Given the description of an element on the screen output the (x, y) to click on. 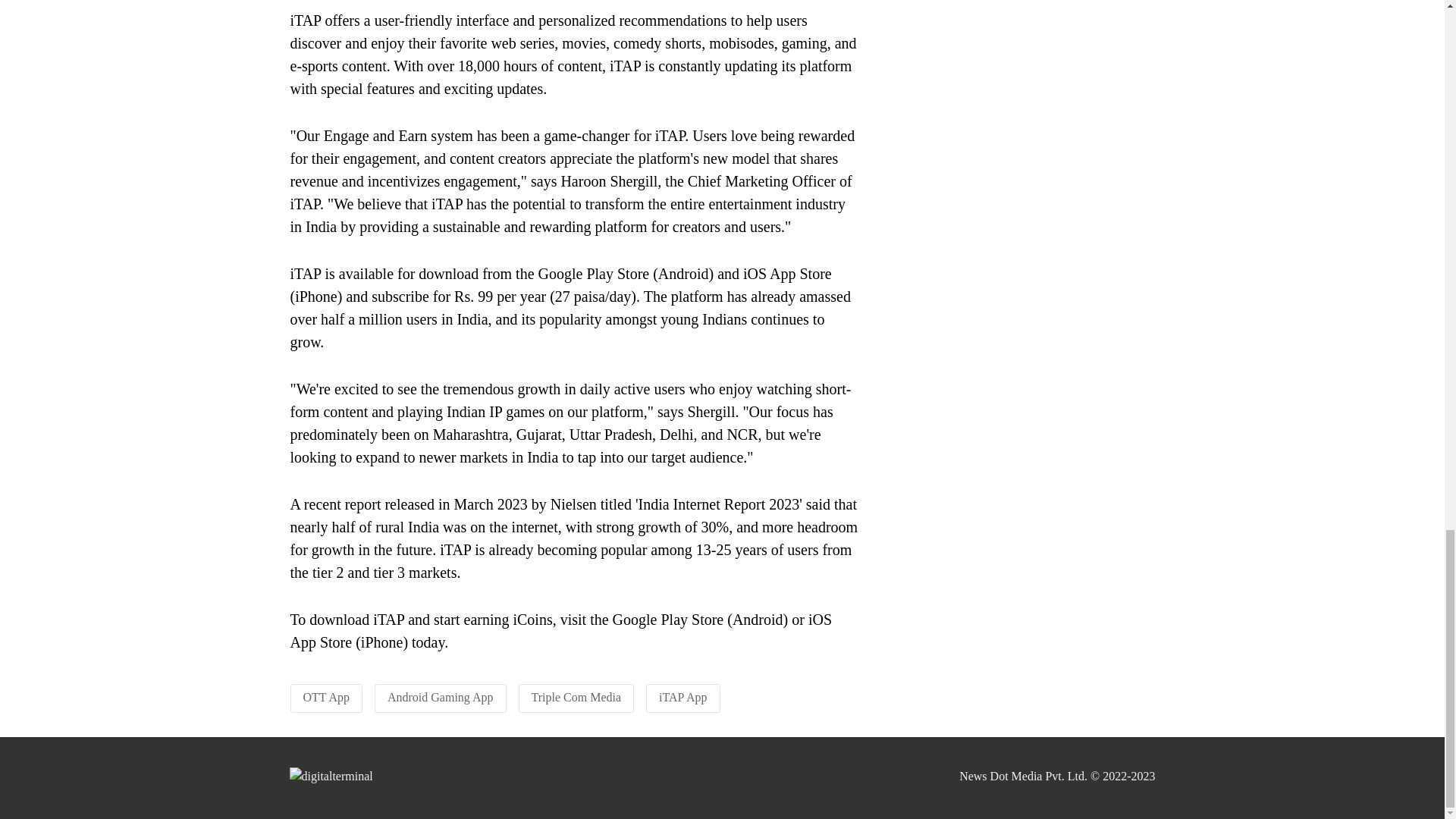
iTAP App (682, 697)
OTT App (325, 697)
Triple Com Media (576, 697)
Android Gaming App (440, 697)
